Given the description of an element on the screen output the (x, y) to click on. 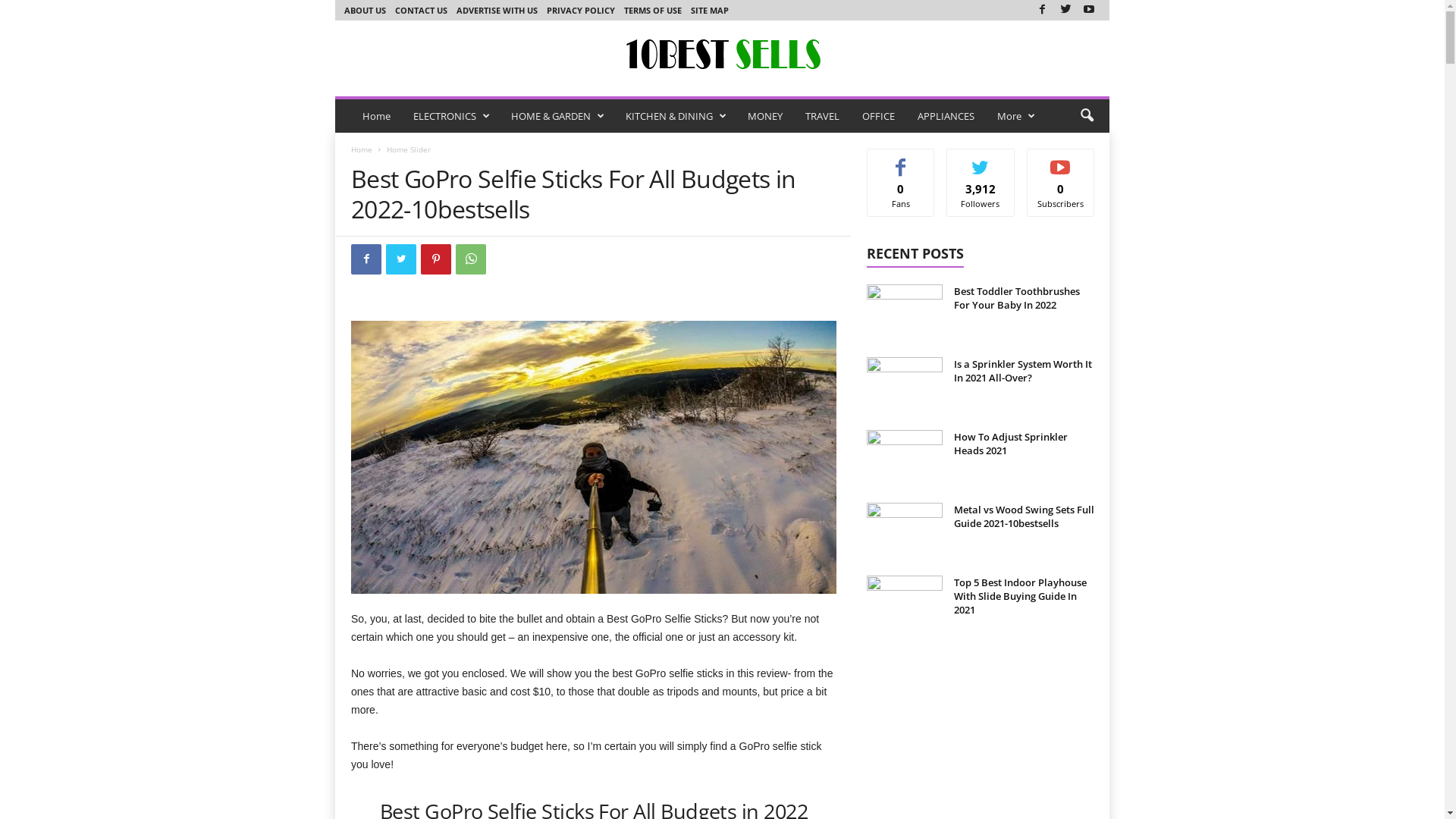
Home Element type: text (361, 149)
How To Adjust Sprinkler Heads 2021 Element type: text (1010, 443)
More Element type: text (1014, 115)
Facebook Element type: hover (1042, 10)
How To Adjust Sprinkler Heads 2021 Element type: hover (904, 457)
OFFICE Element type: text (878, 115)
Facebook Element type: hover (366, 259)
Top 5 Best Indoor Playhouse With Slide Buying Guide In 2021 Element type: text (1019, 595)
10BestSells Element type: text (722, 54)
Twitter Element type: hover (400, 259)
PRIVACY POLICY Element type: text (580, 9)
CONTACT US Element type: text (421, 9)
MONEY Element type: text (764, 115)
Twitter Element type: hover (1065, 10)
Pinterest Element type: hover (435, 259)
Youtube Element type: hover (1088, 10)
WhatsApp Element type: hover (470, 259)
ADVERTISE WITH US Element type: text (496, 9)
Home Element type: text (376, 115)
Is a Sprinkler System Worth It In 2021 All-Over? Element type: text (1022, 370)
TERMS OF USE Element type: text (652, 9)
HOME & GARDEN Element type: text (556, 115)
Metal vs Wood Swing Sets Full Guide 2021-10bestsells Element type: hover (904, 530)
Metal vs Wood Swing Sets Full Guide 2021-10bestsells Element type: text (1023, 516)
Best Toddler Toothbrushes For Your Baby In 2022 Element type: text (1016, 297)
SITE MAP Element type: text (709, 9)
TRAVEL Element type: text (821, 115)
ABOUT US Element type: text (364, 9)
ELECTRONICS Element type: text (450, 115)
APPLIANCES Element type: text (945, 115)
Best Toddler Toothbrushes For Your Baby In 2022 Element type: hover (904, 312)
KITCHEN & DINING Element type: text (675, 115)
Best GoPro Selfie Sticks For All Budgets Element type: hover (593, 456)
Top 5 Best Indoor Playhouse With Slide Buying Guide In 2021 Element type: hover (904, 603)
Is a Sprinkler System Worth It In 2021 All-Over? Element type: hover (904, 385)
